Given the description of an element on the screen output the (x, y) to click on. 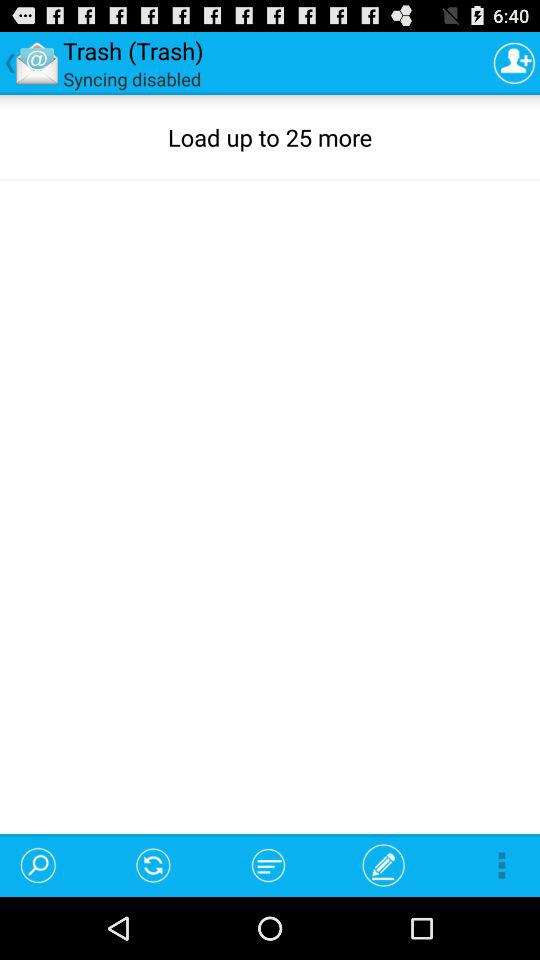
choose icon to the right of trash (trash) icon (514, 62)
